Given the description of an element on the screen output the (x, y) to click on. 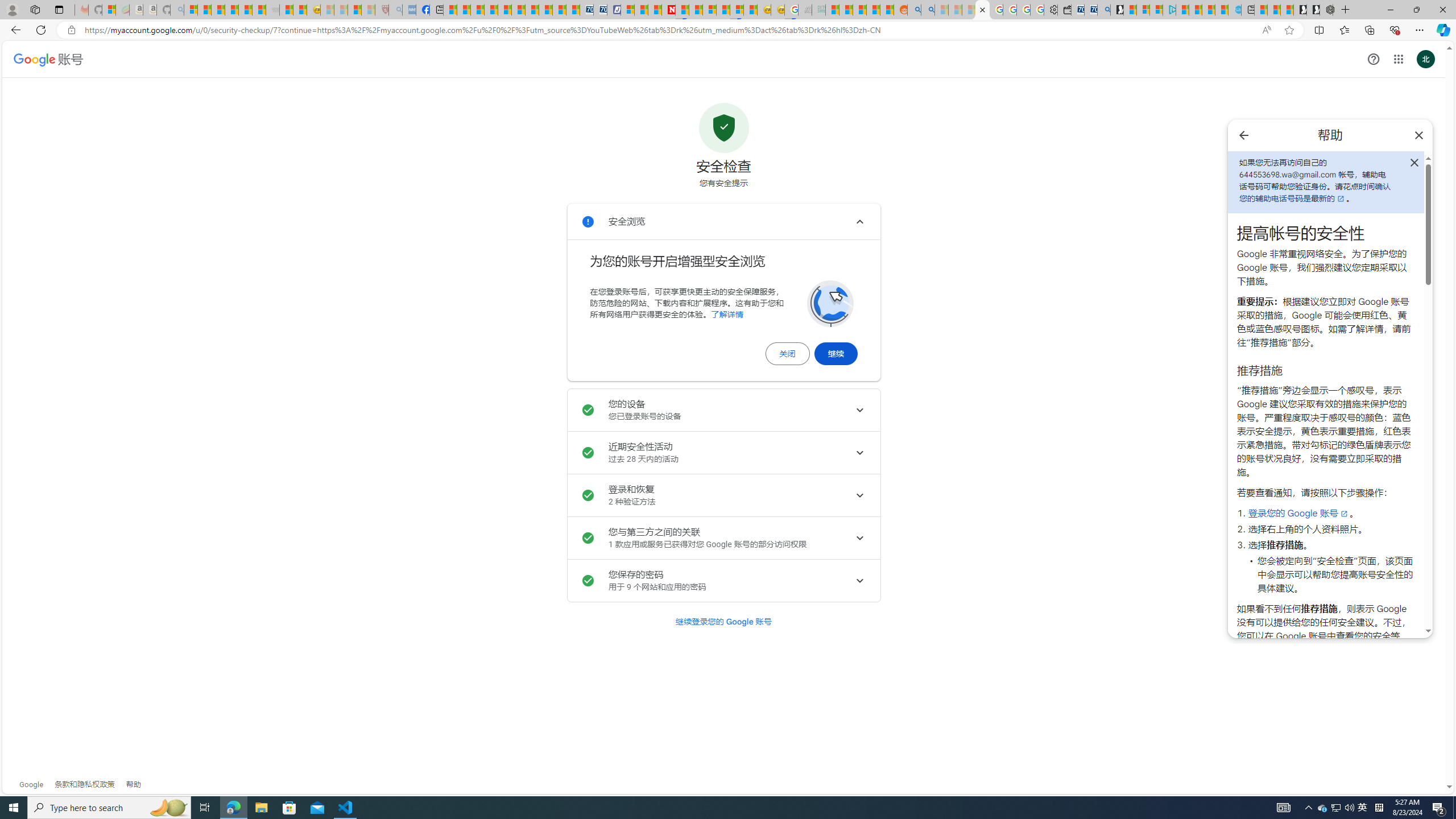
Combat Siege - Sleeping (271, 9)
Class: gb_E (1398, 59)
Wallet (1063, 9)
